Given the description of an element on the screen output the (x, y) to click on. 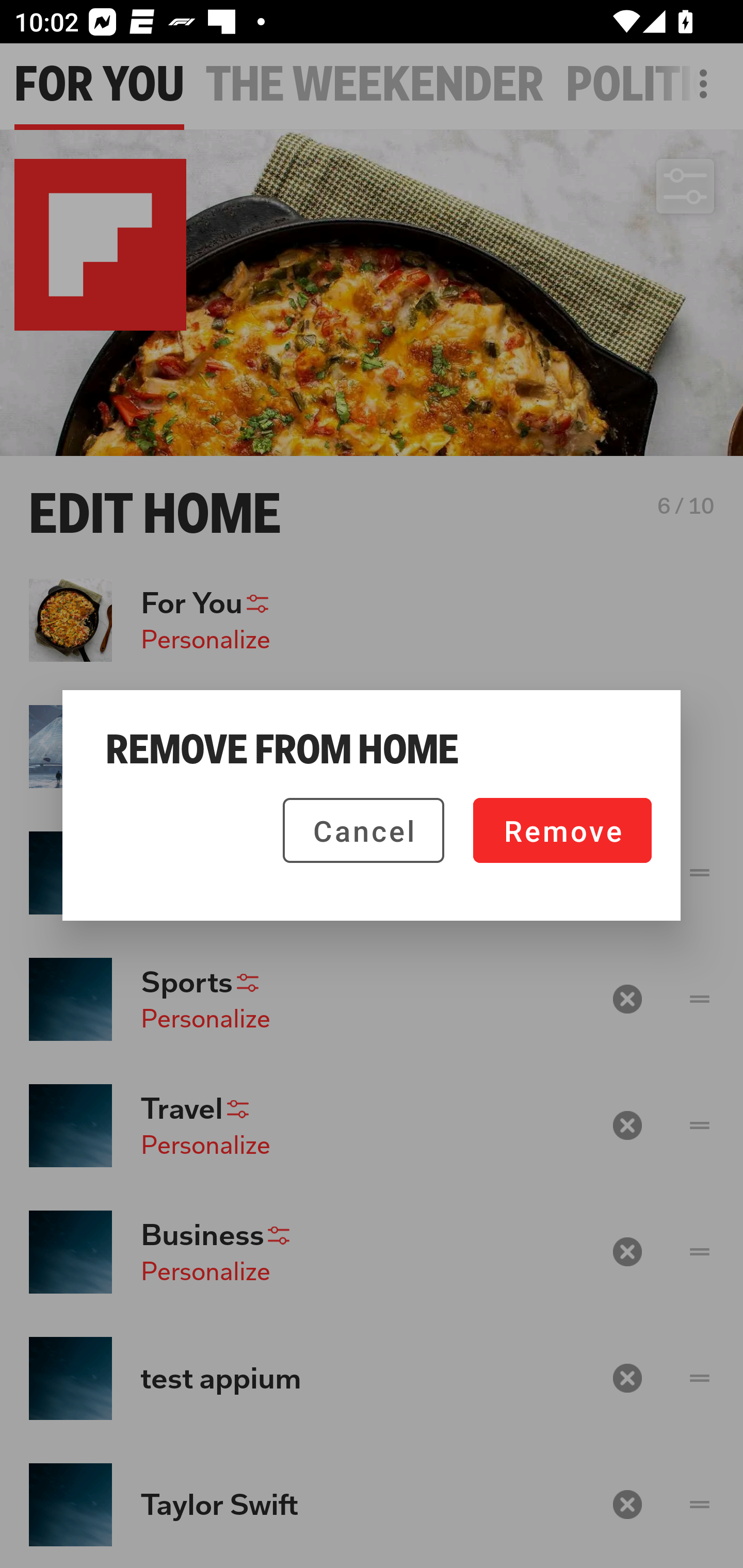
Cancel (363, 830)
Remove (562, 830)
